Given the description of an element on the screen output the (x, y) to click on. 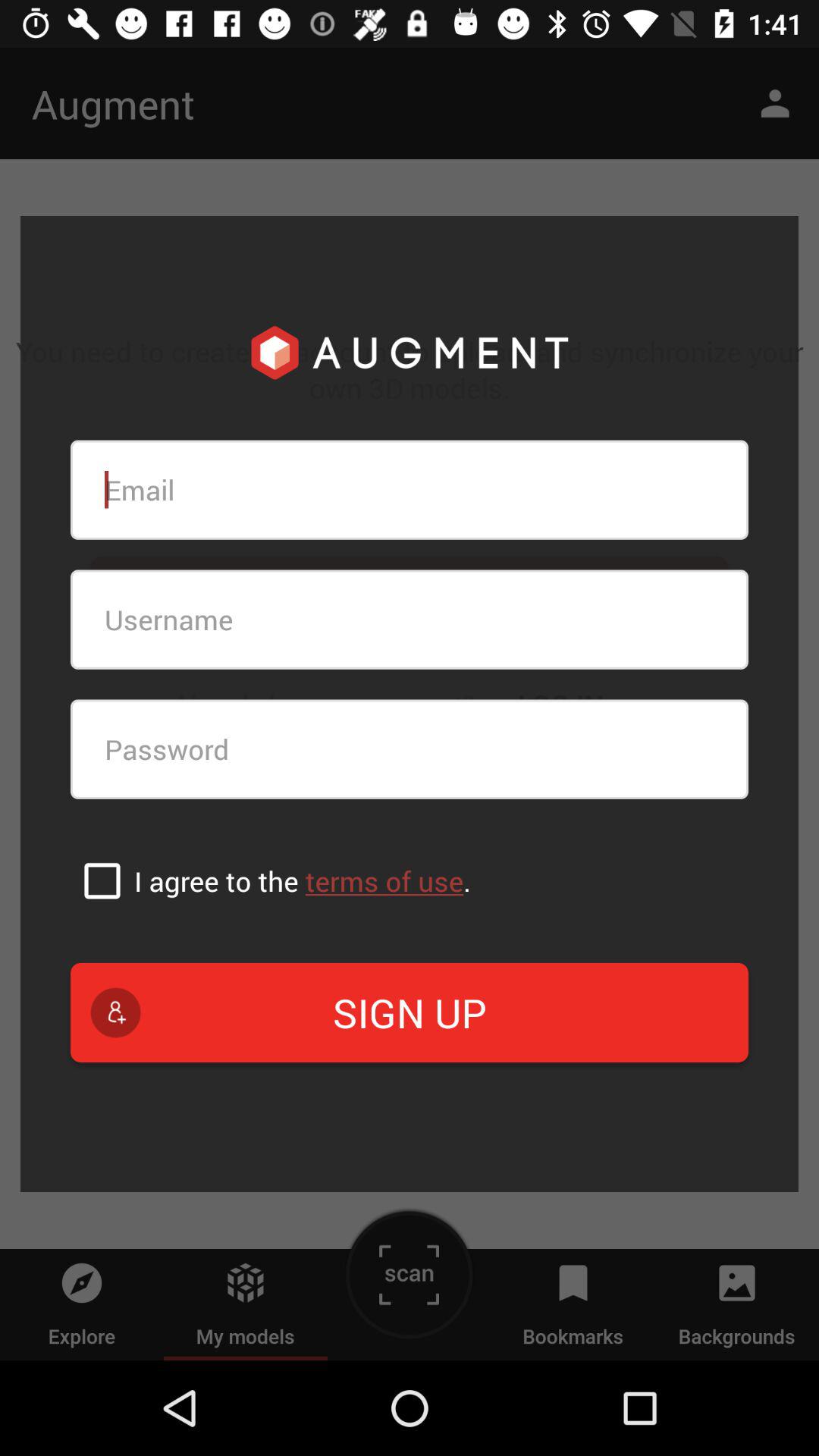
launch i agree to item (302, 880)
